Given the description of an element on the screen output the (x, y) to click on. 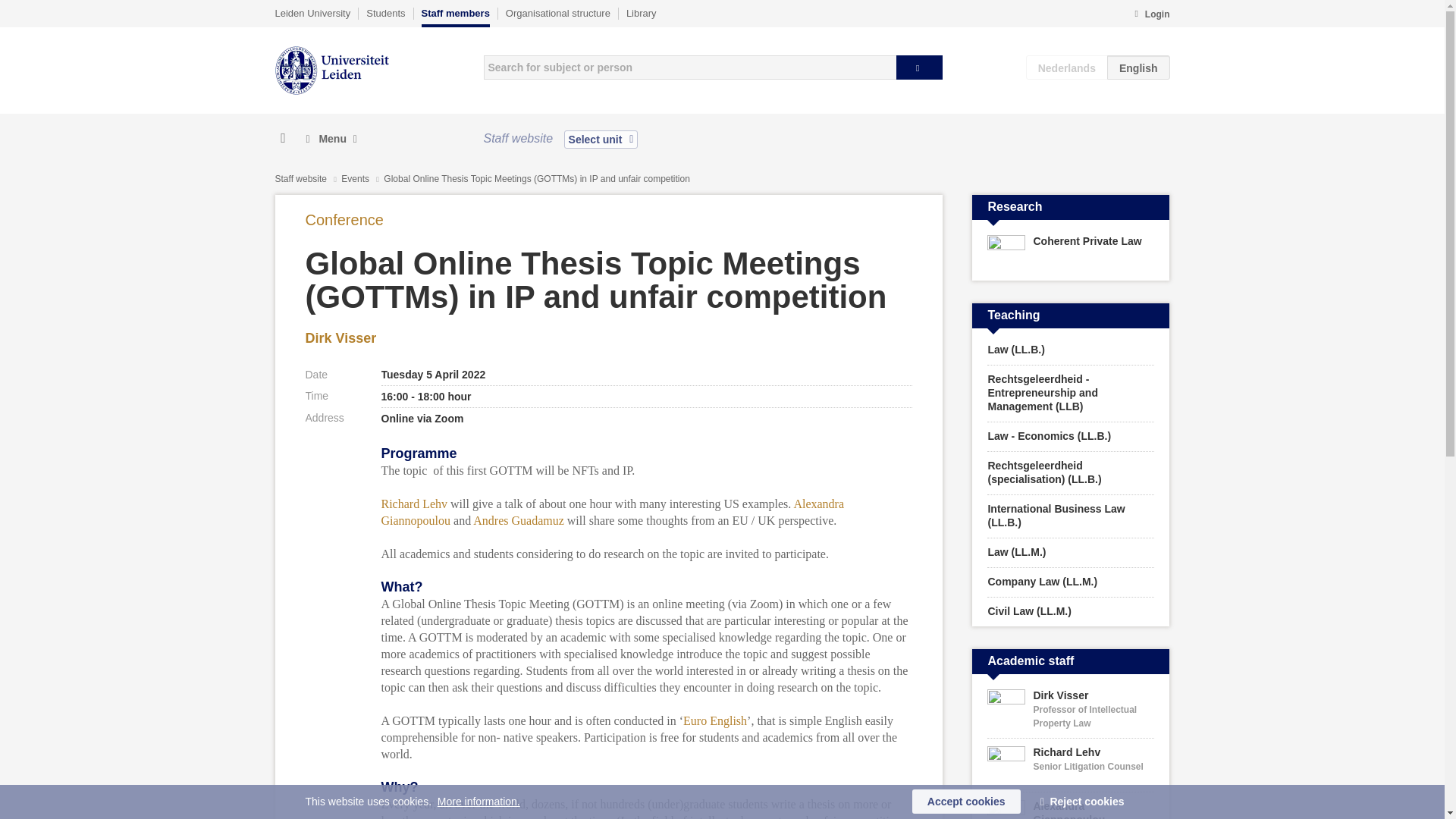
Events (355, 178)
Leiden University (312, 13)
Dirk Visser (339, 337)
Menu (330, 139)
Andres Guadamuz (518, 520)
Select unit (601, 139)
Login (1151, 14)
Euro English (714, 720)
Students (385, 13)
Staff website (300, 178)
